Given the description of an element on the screen output the (x, y) to click on. 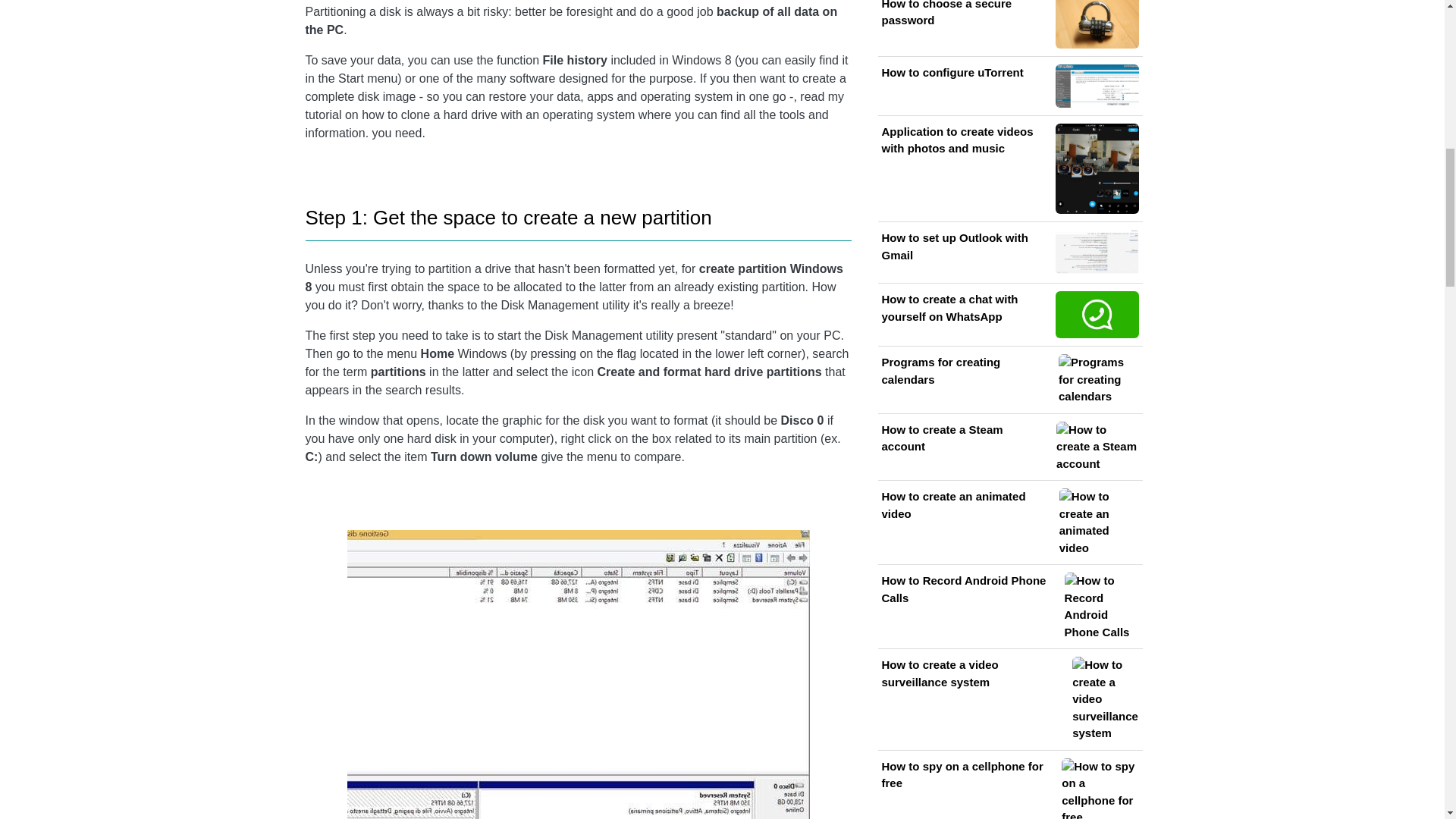
Step 1: Get the space to create a new partition (507, 217)
How to choose a secure password (1009, 24)
How to Record Android Phone Calls (1009, 606)
How to create a Steam account (1009, 447)
Programs for creating calendars (1009, 379)
Application to create videos with photos and music (1009, 168)
Application to create videos with photos and music (1009, 168)
How to create a chat with yourself on WhatsApp (1009, 314)
How to configure uTorrent (1009, 85)
How to spy on a cellphone for free (1009, 788)
